Given the description of an element on the screen output the (x, y) to click on. 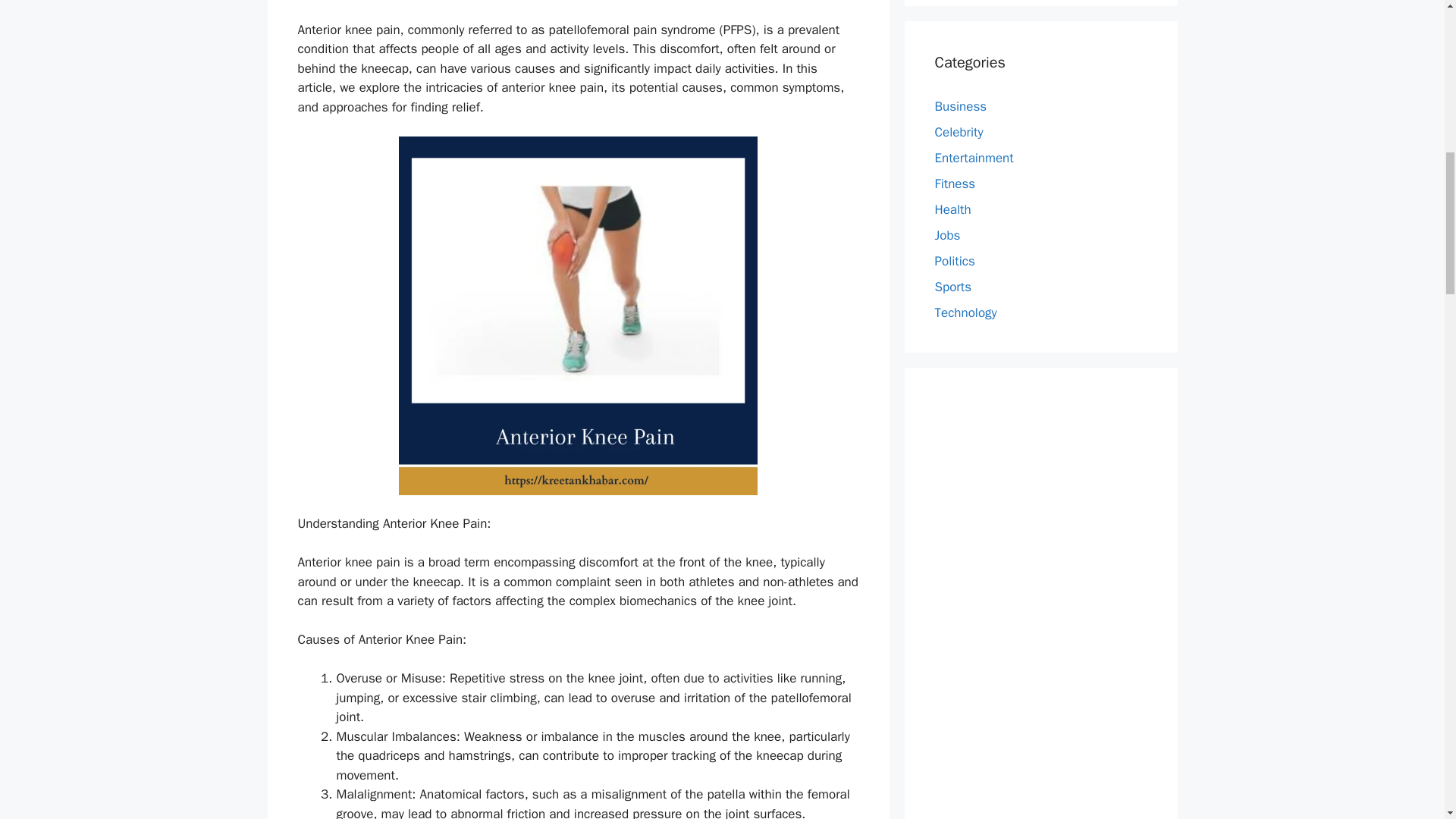
Technology (964, 312)
Celebrity (958, 132)
Politics (954, 261)
Fitness (954, 183)
Entertainment (973, 157)
Health (952, 209)
Sports (952, 286)
Jobs (946, 235)
Business (960, 106)
